Given the description of an element on the screen output the (x, y) to click on. 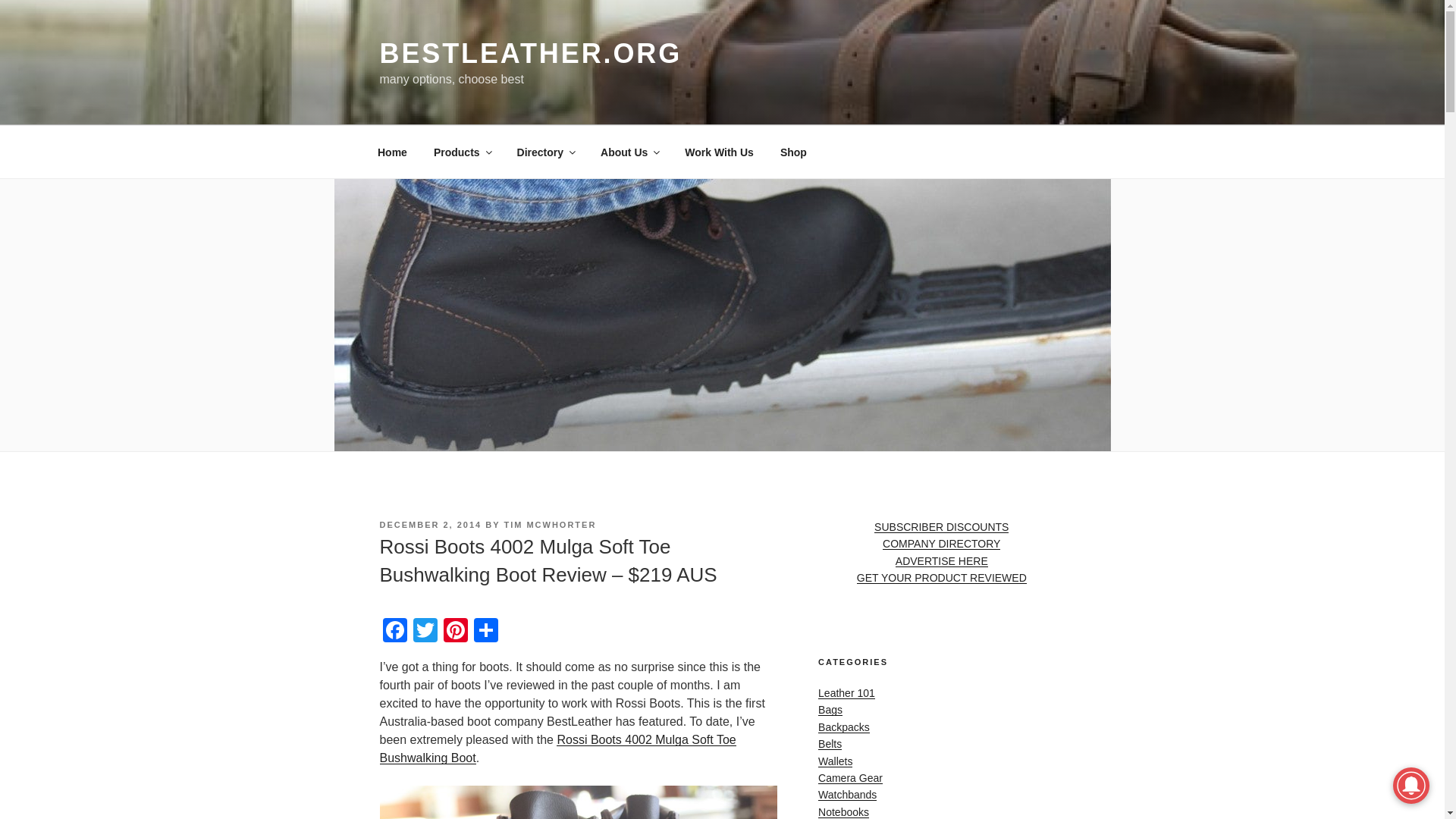
About Us (629, 151)
leather companies (544, 151)
Twitter (424, 632)
Twitter (424, 632)
Shop (793, 151)
DECEMBER 2, 2014 (429, 524)
BESTLEATHER.ORG (529, 52)
browse by catagory (461, 151)
Work With Us (719, 151)
Facebook (393, 632)
